Given the description of an element on the screen output the (x, y) to click on. 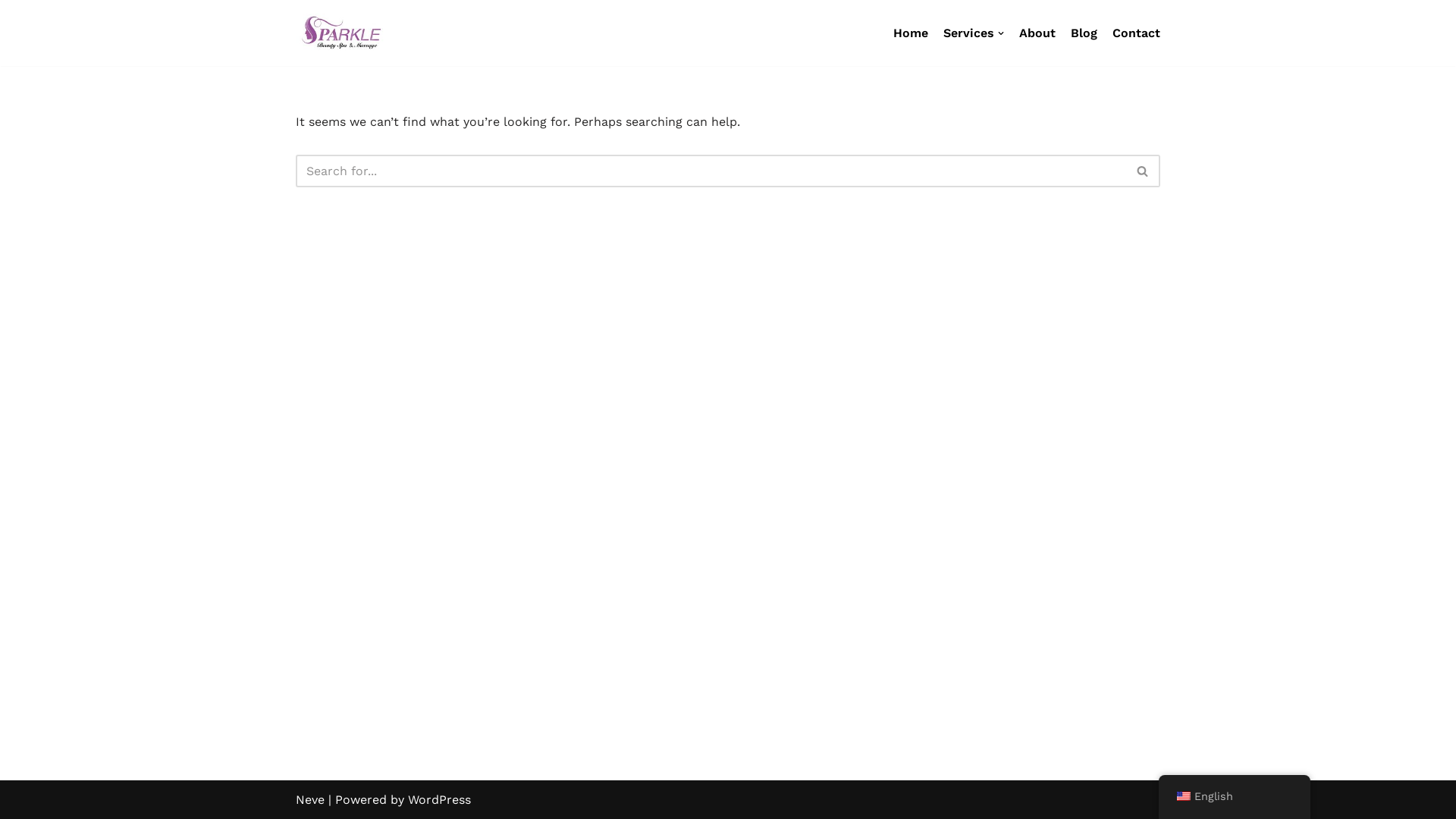
Massage in Hobart Element type: hover (340, 32)
About Element type: text (1037, 33)
Blog Element type: text (1083, 33)
Neve Element type: text (309, 799)
English Element type: text (1234, 795)
WordPress Element type: text (438, 799)
Home Element type: text (910, 33)
Skip to content Element type: text (11, 31)
Contact Element type: text (1136, 33)
English Element type: hover (1183, 795)
Services Element type: text (973, 33)
